Given the description of an element on the screen output the (x, y) to click on. 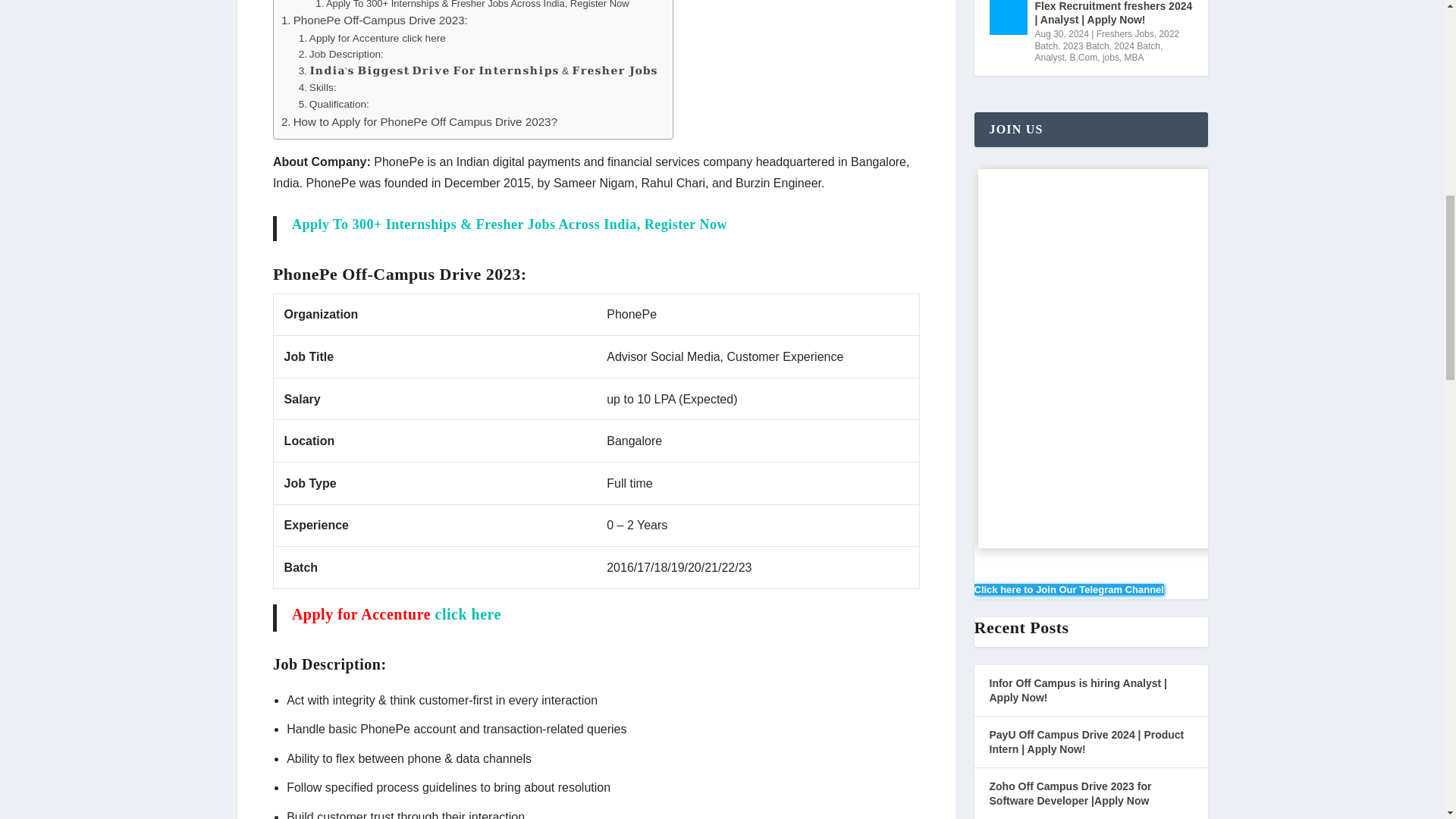
Skills: (317, 87)
How to Apply for PhonePe Off Campus Drive 2023? (419, 122)
How to Apply for PhonePe Off Campus Drive 2023? (419, 122)
Skills: (317, 87)
PhonePe Off-Campus Drive 2023: (374, 20)
Apply for Accenture click here (371, 38)
Job Description: (341, 54)
Job Description: (341, 54)
click here (465, 614)
Apply for Accenture click here (371, 38)
